Given the description of an element on the screen output the (x, y) to click on. 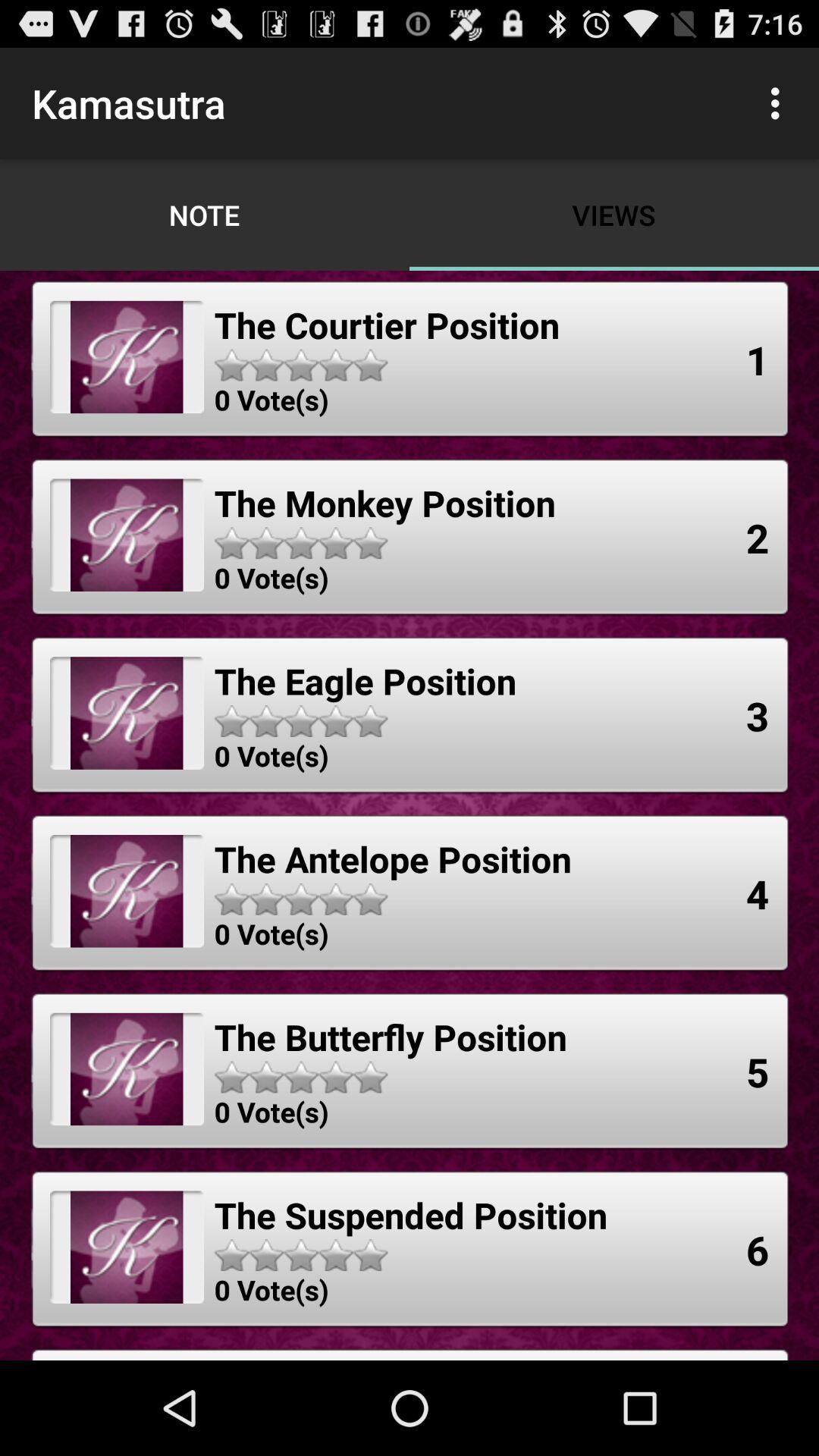
jump until 2 (757, 537)
